Given the description of an element on the screen output the (x, y) to click on. 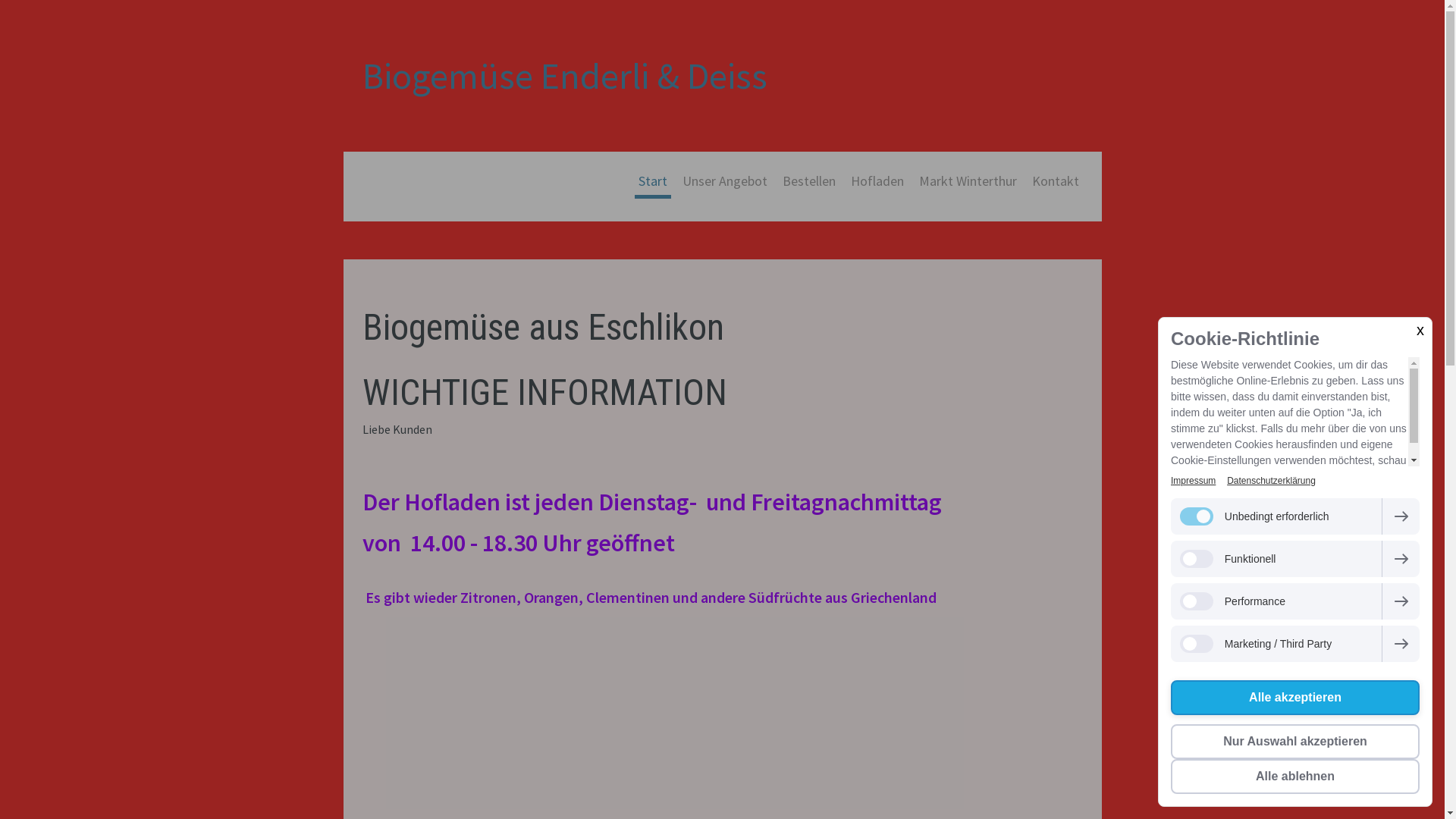
Hofladen Element type: text (876, 182)
Impressum Element type: text (1192, 480)
Alle akzeptieren Element type: text (1294, 697)
Kontakt Element type: text (1055, 182)
Bestellen Element type: text (808, 182)
Alle ablehnen Element type: text (1294, 776)
Start Element type: text (651, 182)
Markt Winterthur Element type: text (966, 182)
Unser Angebot Element type: text (723, 182)
Nur Auswahl akzeptieren Element type: text (1294, 741)
